Given the description of an element on the screen output the (x, y) to click on. 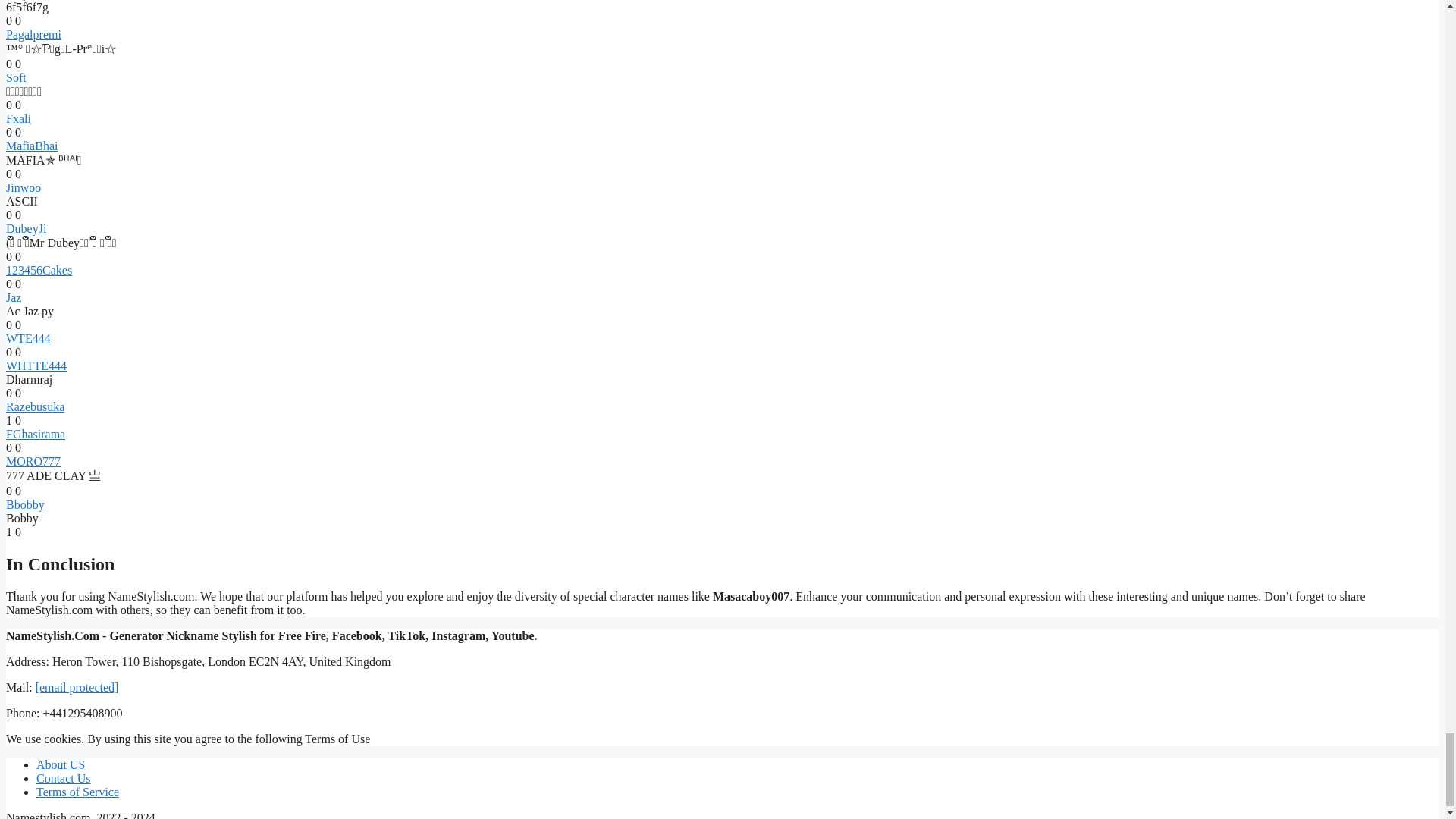
Soft (15, 77)
MafiaBhai (31, 145)
Fxali (17, 118)
Pagalpremi (33, 33)
